Given the description of an element on the screen output the (x, y) to click on. 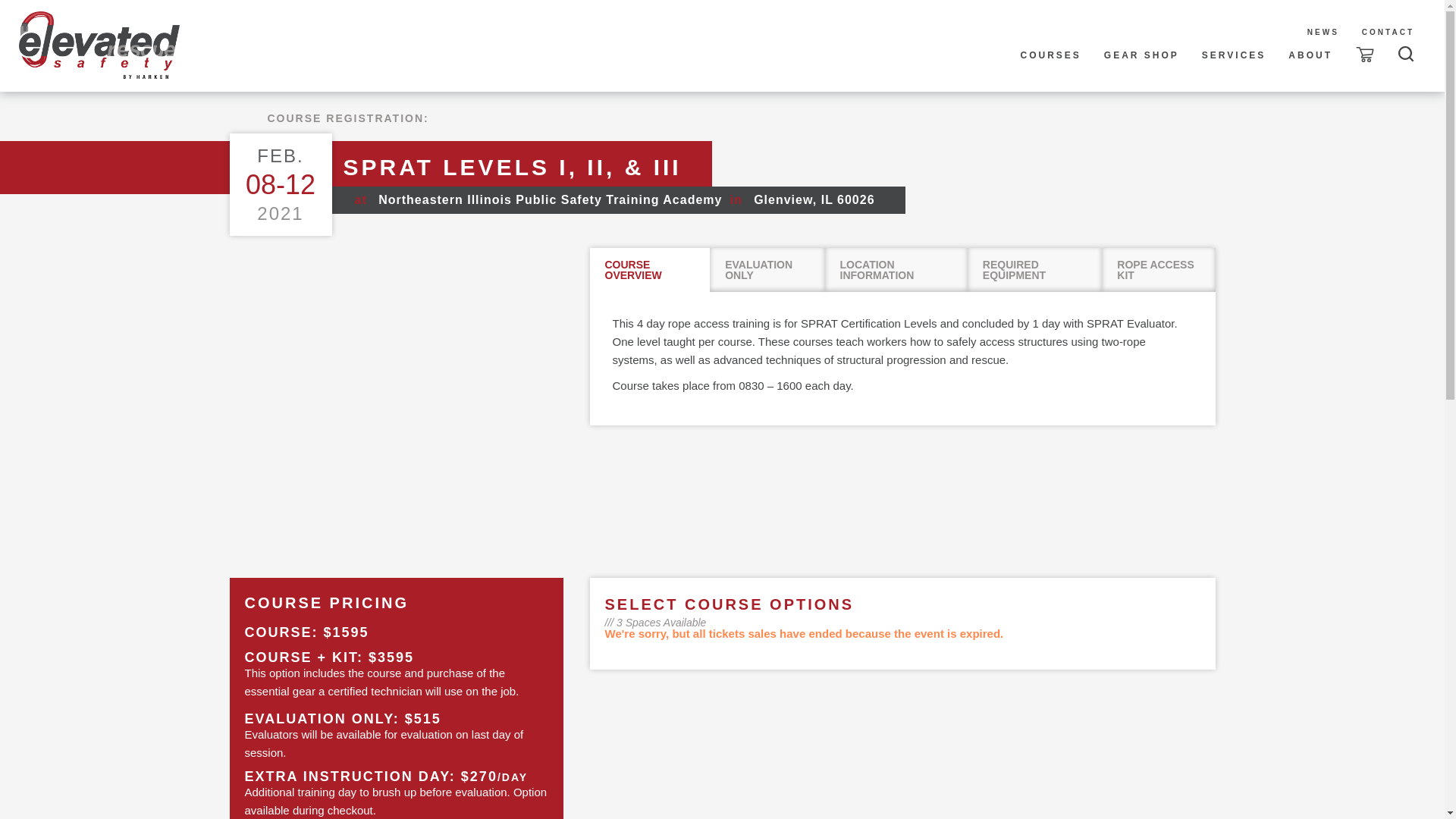
CONTACT (1388, 32)
Navigation-Search (1405, 53)
COURSES (1050, 55)
NEWS (1323, 32)
NAVIGATION-CARTICON (1364, 54)
GEAR SHOP (1142, 55)
Navigation-Search (1403, 50)
